Given the description of an element on the screen output the (x, y) to click on. 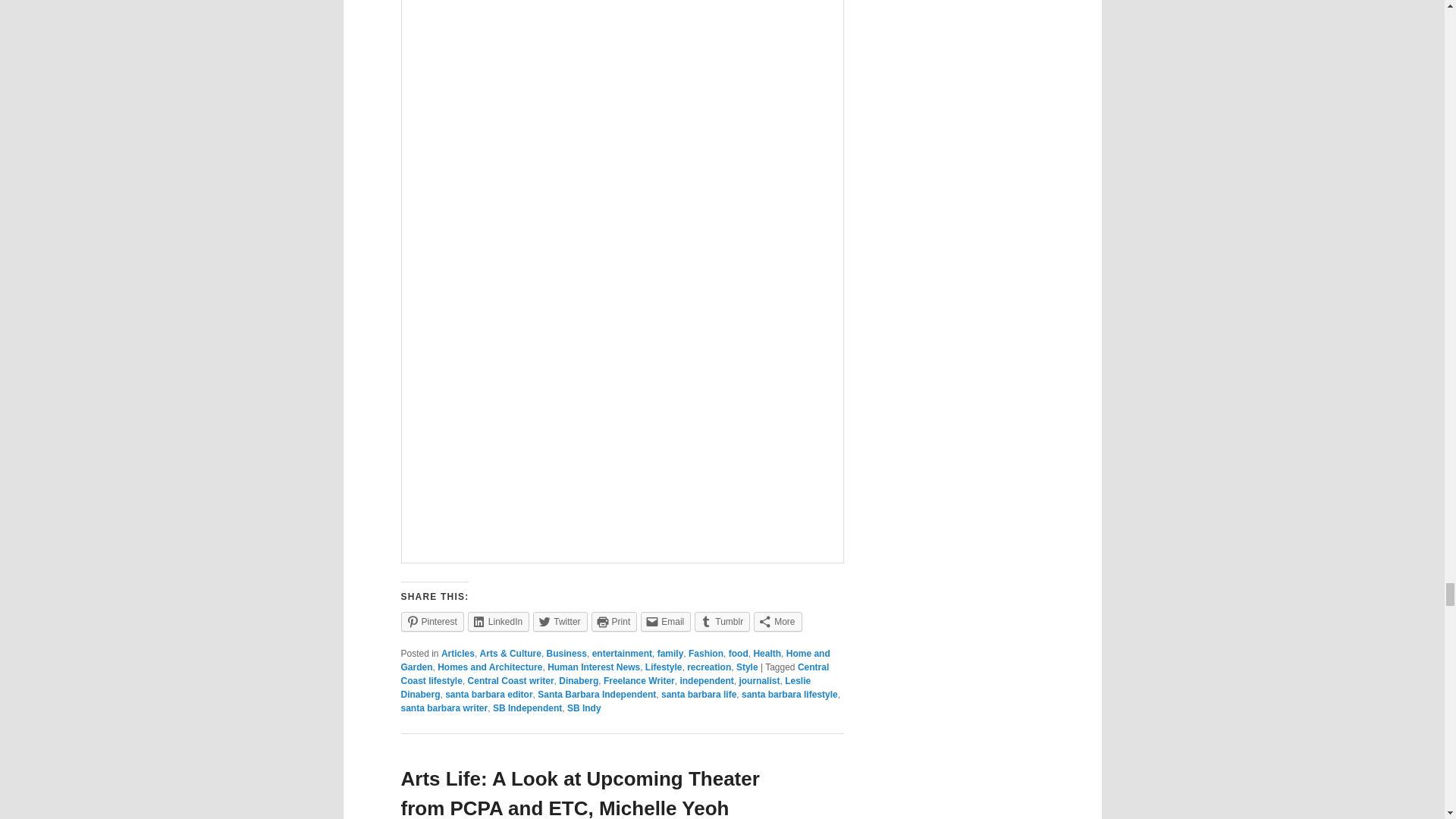
Click to share on Twitter (559, 621)
Click to print (614, 621)
Click to share on Pinterest (431, 621)
Click to share on LinkedIn (498, 621)
